Given the description of an element on the screen output the (x, y) to click on. 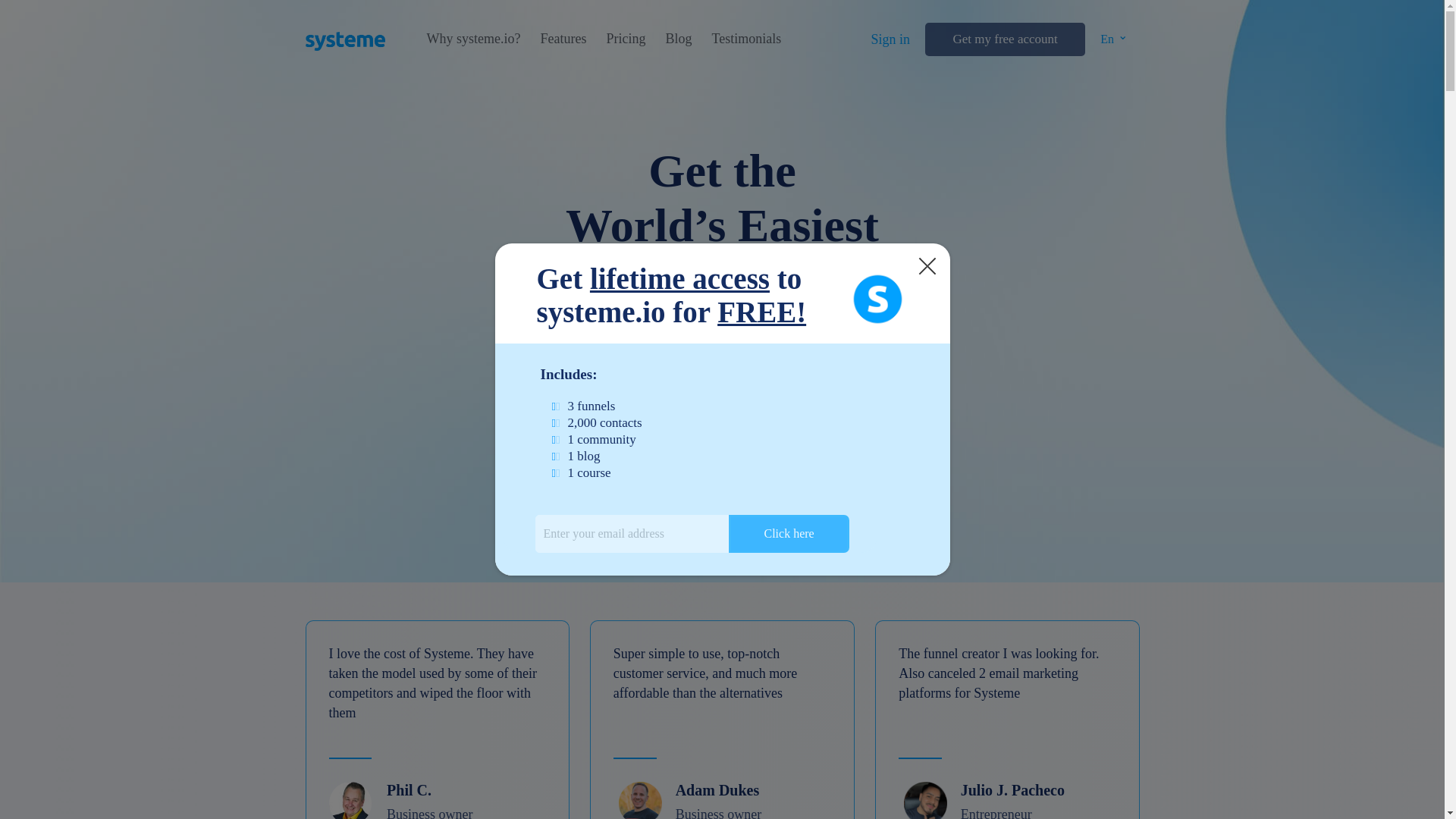
Features (563, 38)
Testimonials (745, 38)
Pricing (625, 38)
Sign in (890, 39)
Blog (678, 38)
Why systeme.io? (472, 38)
Get my free account (1004, 39)
